Given the description of an element on the screen output the (x, y) to click on. 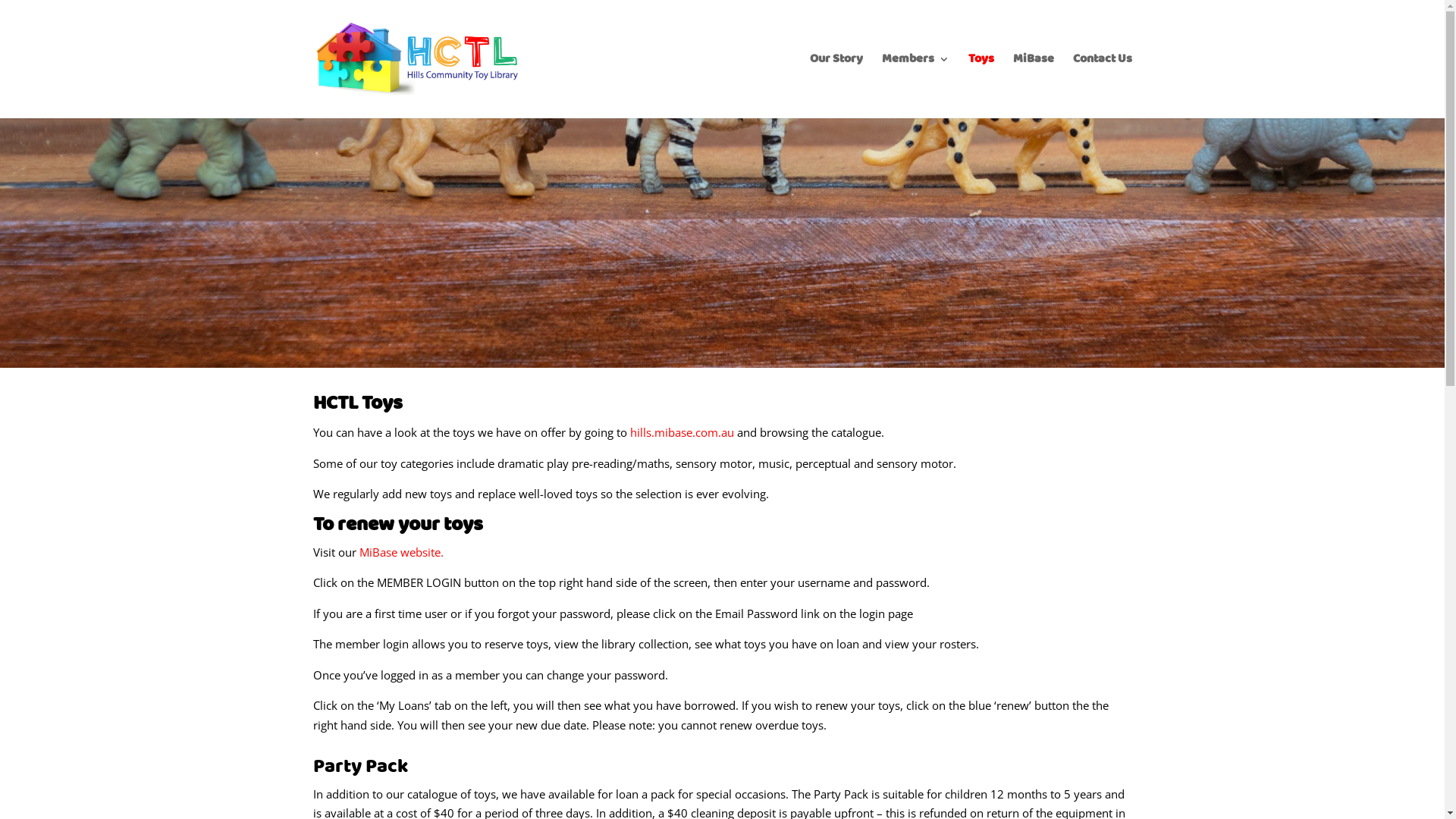
Toys Element type: text (980, 85)
Members Element type: text (914, 85)
Our Story Element type: text (835, 85)
Contact Us Element type: text (1101, 85)
MiBase Element type: text (1033, 85)
MiBase website. Element type: text (401, 551)
hills.mibase.com.au Element type: text (681, 431)
